Given the description of an element on the screen output the (x, y) to click on. 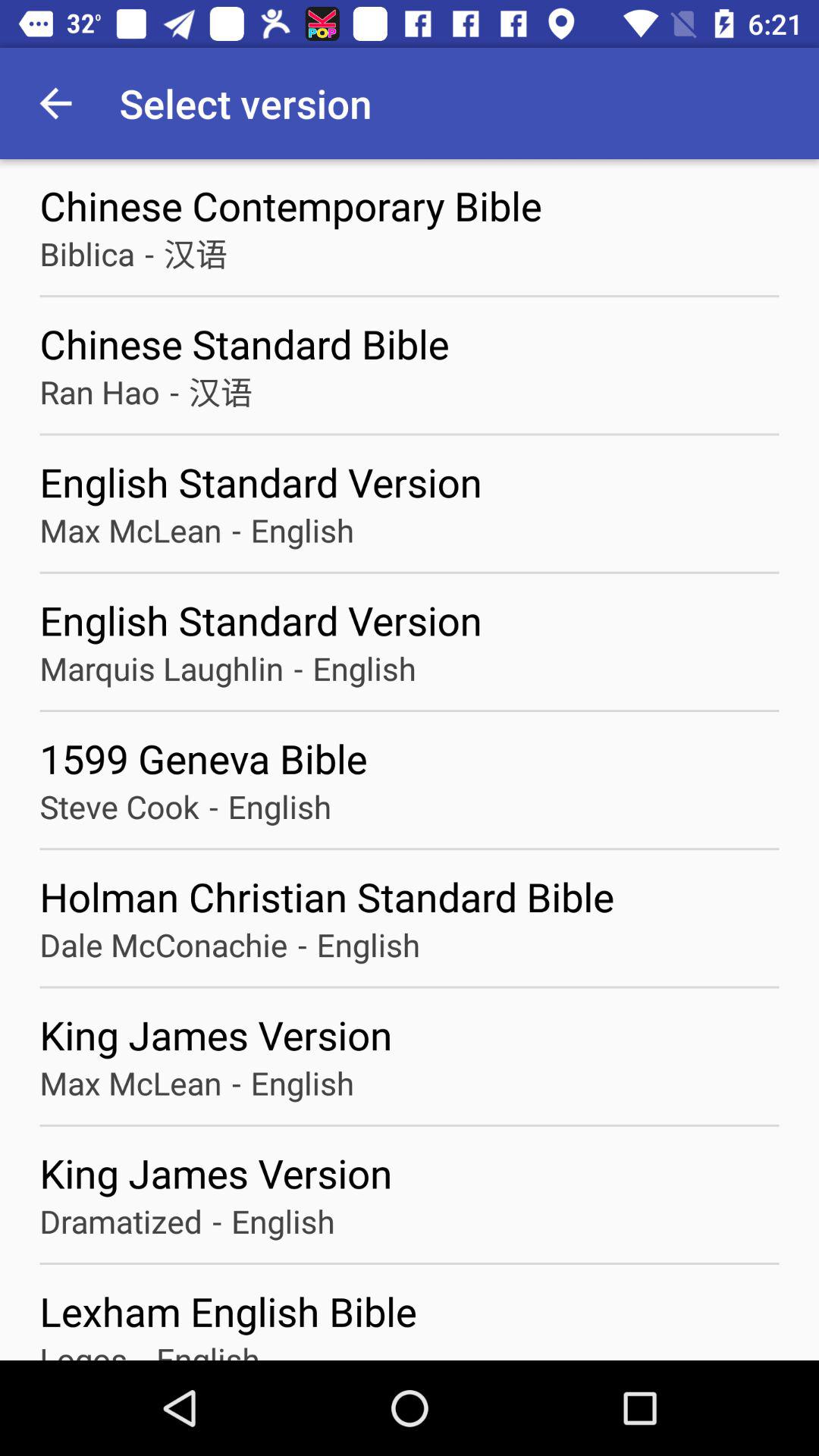
tap - icon (302, 944)
